Given the description of an element on the screen output the (x, y) to click on. 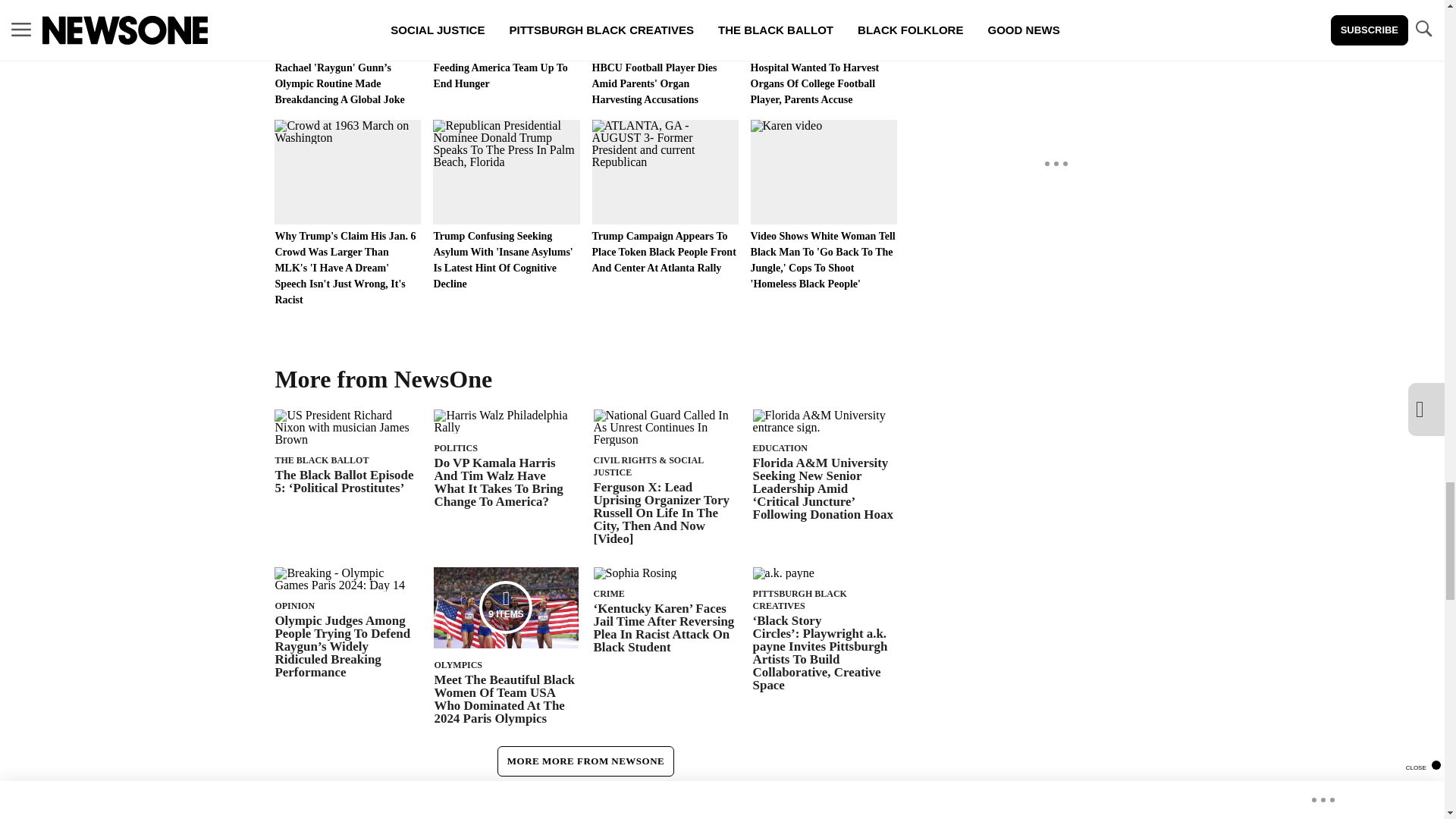
Chef Jernard Wells and Feeding America Team Up To End Hunger (505, 45)
More from NewsOne (391, 378)
Media Playlist (505, 606)
